Given the description of an element on the screen output the (x, y) to click on. 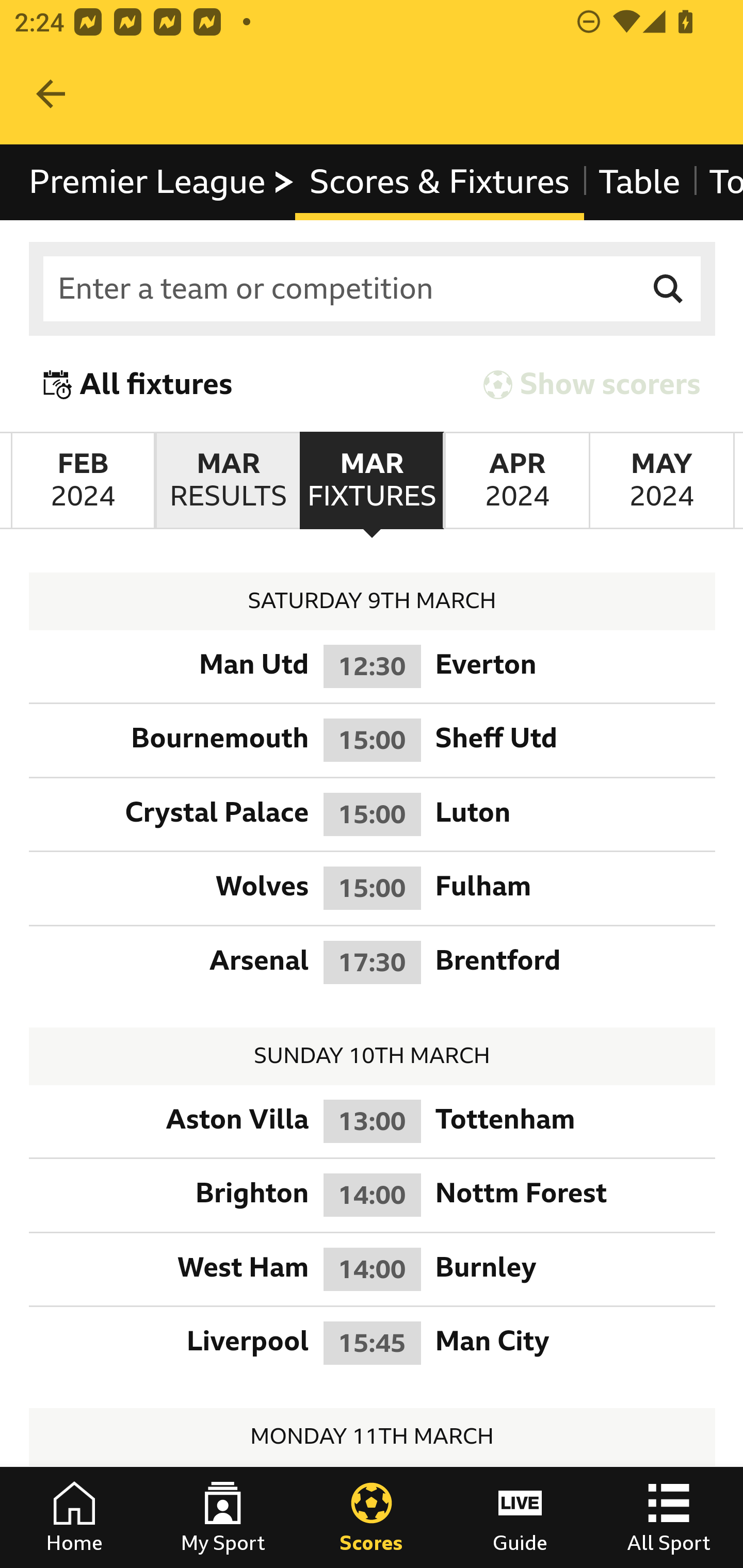
Navigate up (50, 93)
Premier League  (162, 181)
Scores & Fixtures (439, 181)
Table (638, 181)
Search (669, 289)
All fixtures (137, 383)
Show scorers (591, 383)
February2024 February 2024 (83, 480)
MarchRESULTS March RESULTS (227, 480)
MarchFIXTURES, Selected March FIXTURES , Selected (371, 480)
April2024 April 2024 (516, 480)
May2024 May 2024 (661, 480)
Home (74, 1517)
My Sport (222, 1517)
Guide (519, 1517)
All Sport (668, 1517)
